Given the description of an element on the screen output the (x, y) to click on. 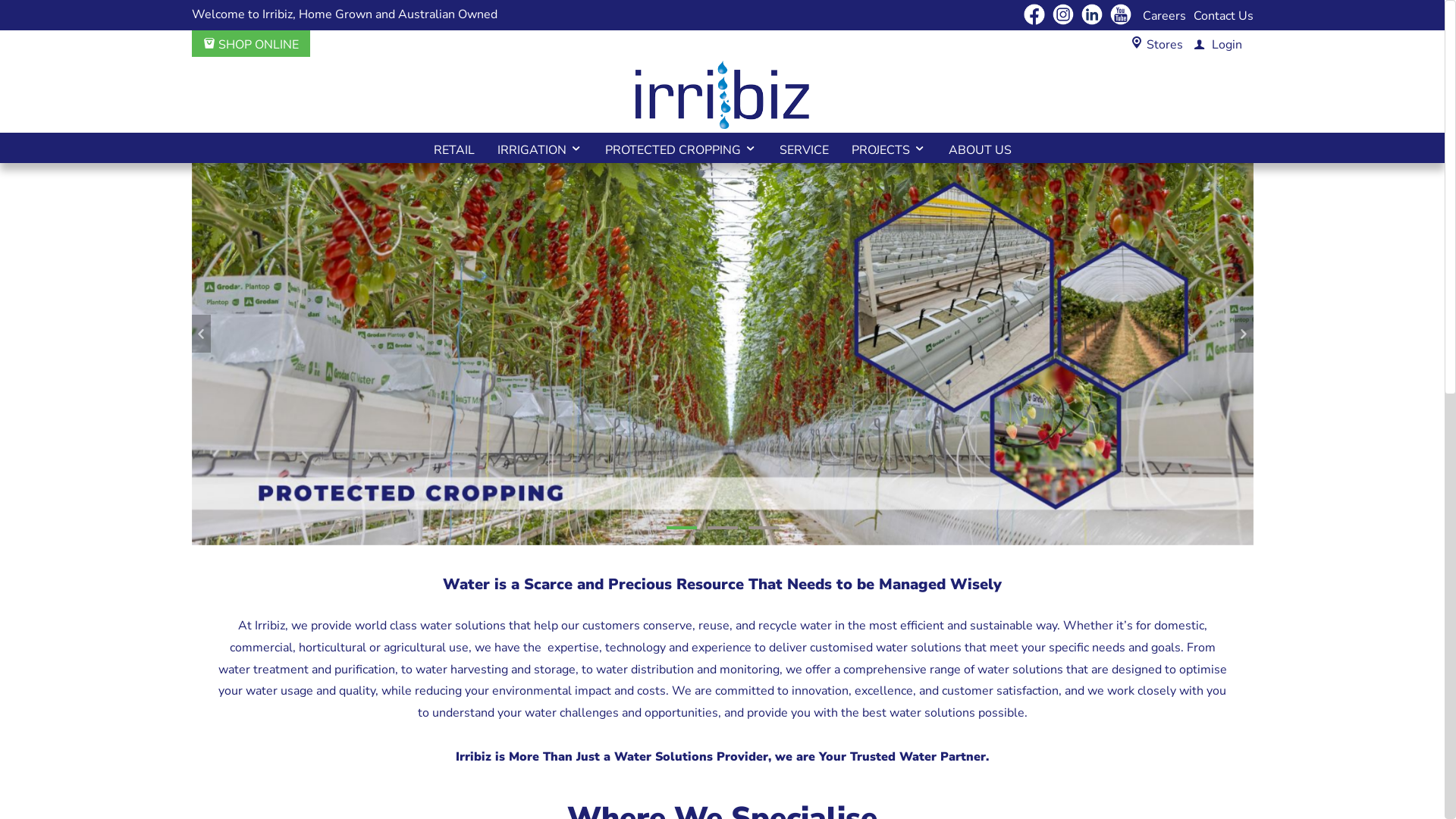
PROTECTED CROPPING Element type: text (680, 147)
Login Element type: text (1218, 44)
Contact Us Element type: text (1223, 15)
ABOUT US Element type: text (979, 147)
SHOP ONLINE Element type: text (250, 44)
RETAIL Element type: text (453, 147)
PROJECTS Element type: text (888, 147)
IRRIGATION Element type: text (539, 147)
Stores Element type: text (1164, 44)
SERVICE Element type: text (803, 147)
Careers Element type: text (1163, 15)
